Given the description of an element on the screen output the (x, y) to click on. 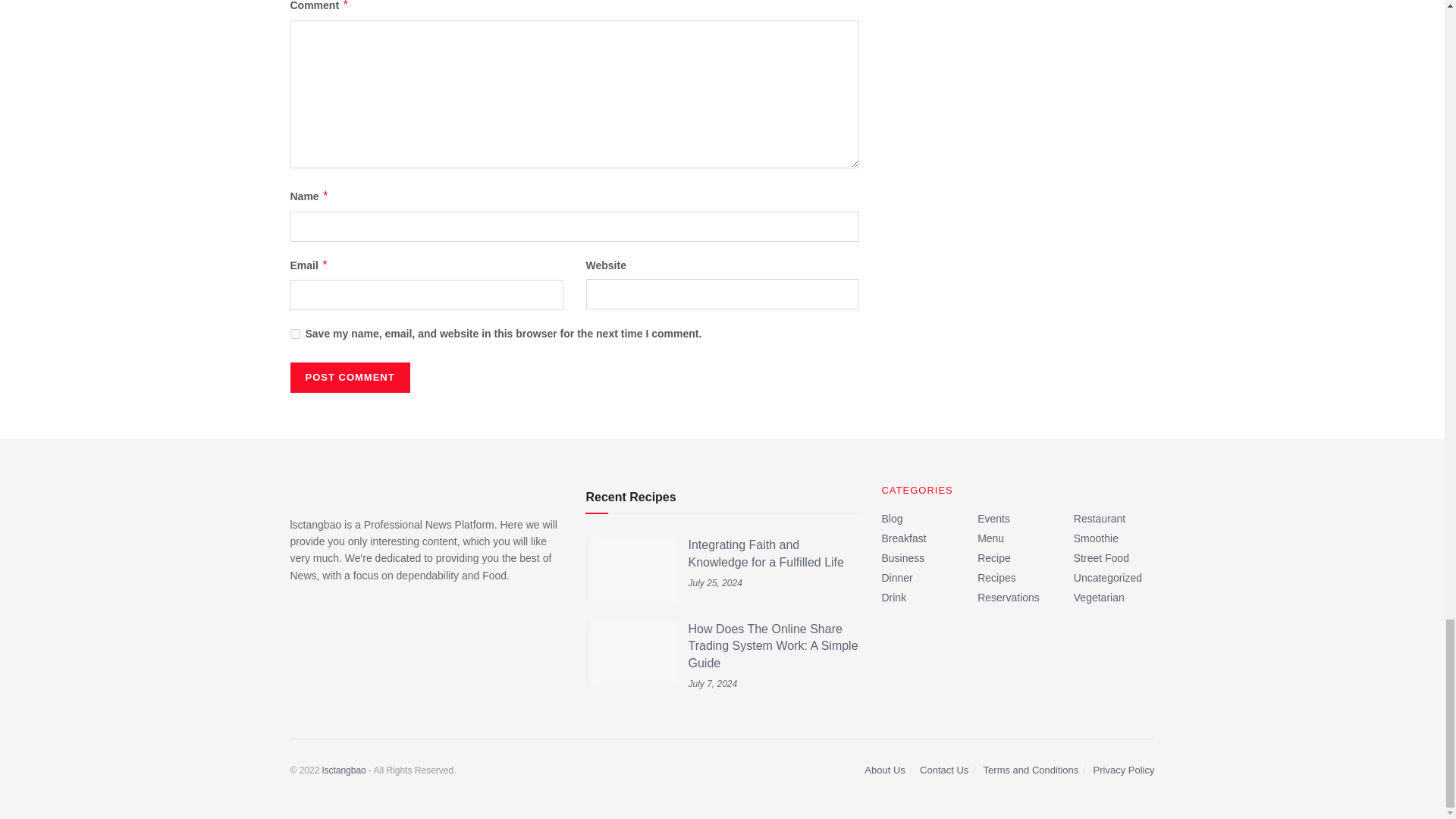
Post Comment (349, 377)
yes (294, 334)
Post Comment (349, 377)
